Given the description of an element on the screen output the (x, y) to click on. 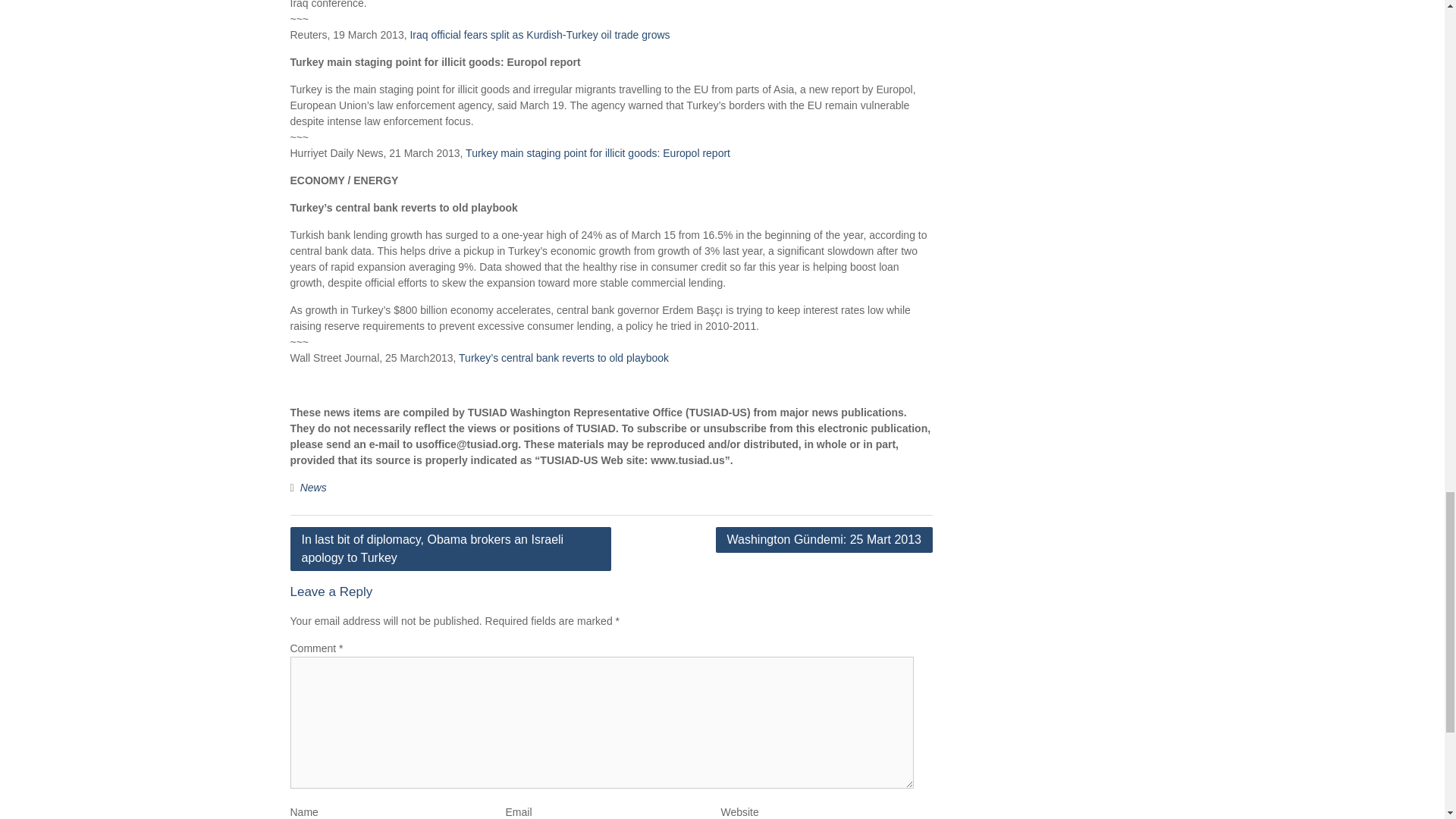
News (312, 487)
Iraq official fears split as Kurdish-Turkey oil trade grows (539, 34)
Turkey main staging point for illicit goods: Europol report (597, 152)
